Given the description of an element on the screen output the (x, y) to click on. 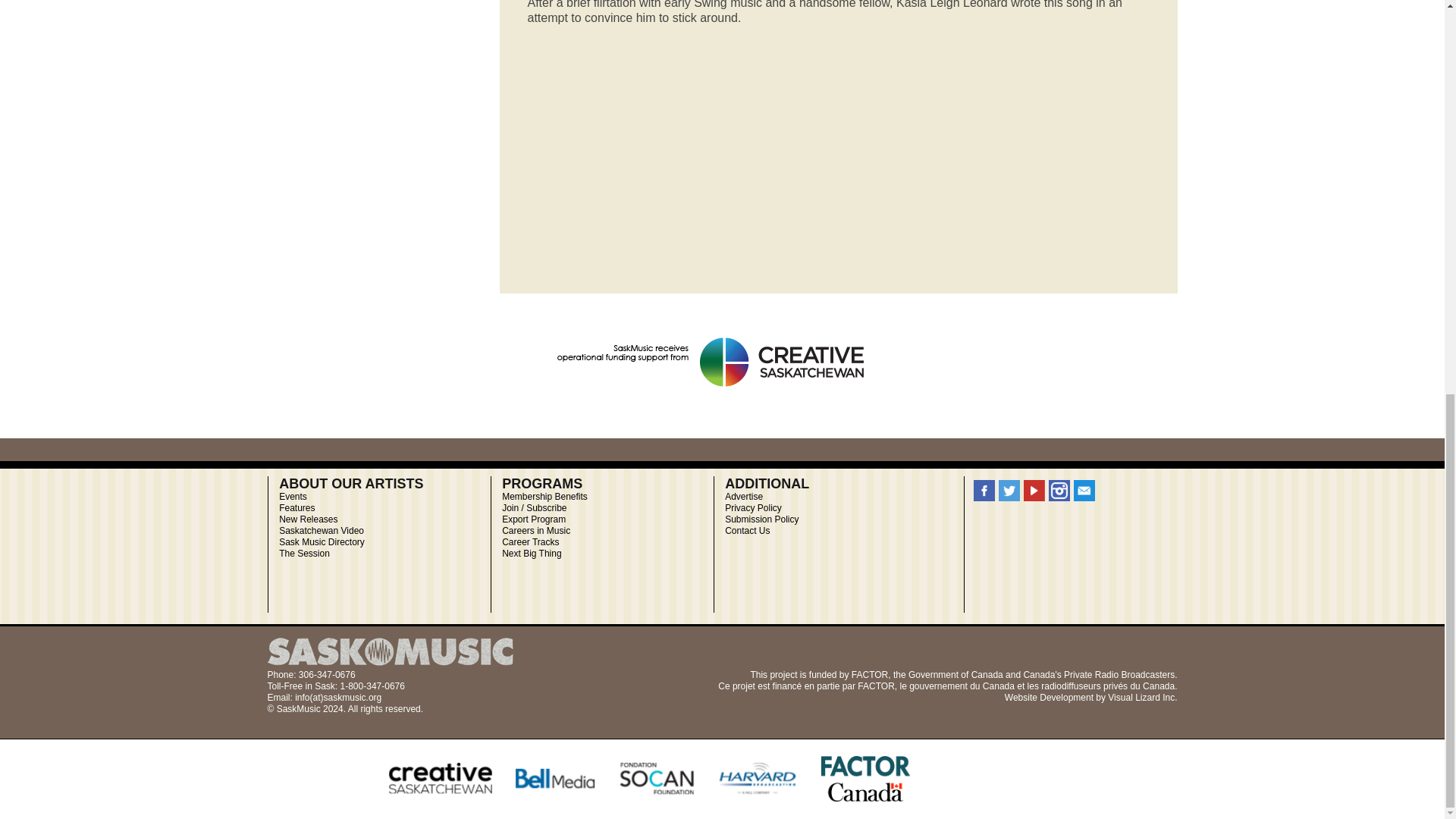
Creative Sask (439, 779)
SOCAN Foundation (656, 779)
Instagram (1058, 490)
Facebook (984, 490)
Bell Media (555, 779)
Government of Canada (961, 685)
Harvard Broadcasting (757, 779)
YouTube (1034, 490)
Email Saskmusic (1084, 490)
FACTOR (865, 779)
